Given the description of an element on the screen output the (x, y) to click on. 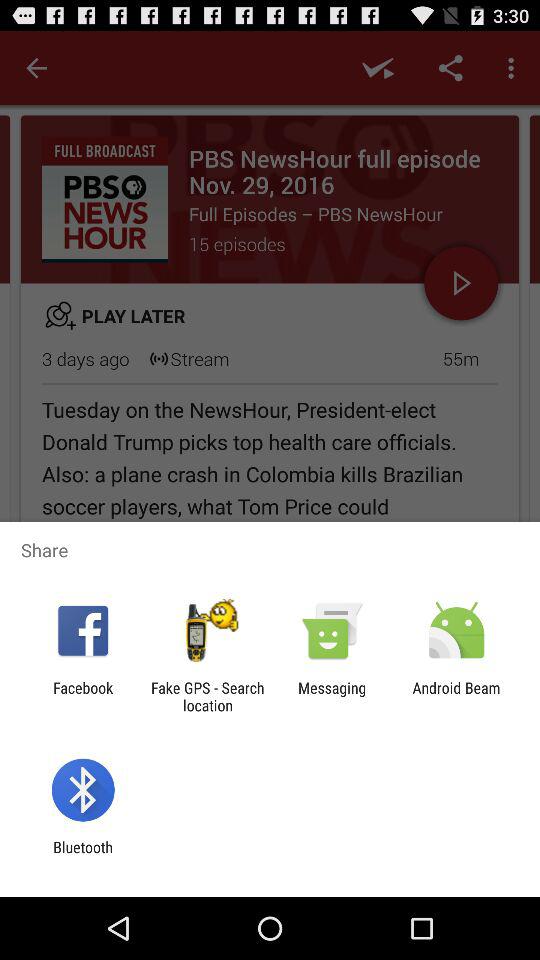
click the item next to the messaging app (207, 696)
